Given the description of an element on the screen output the (x, y) to click on. 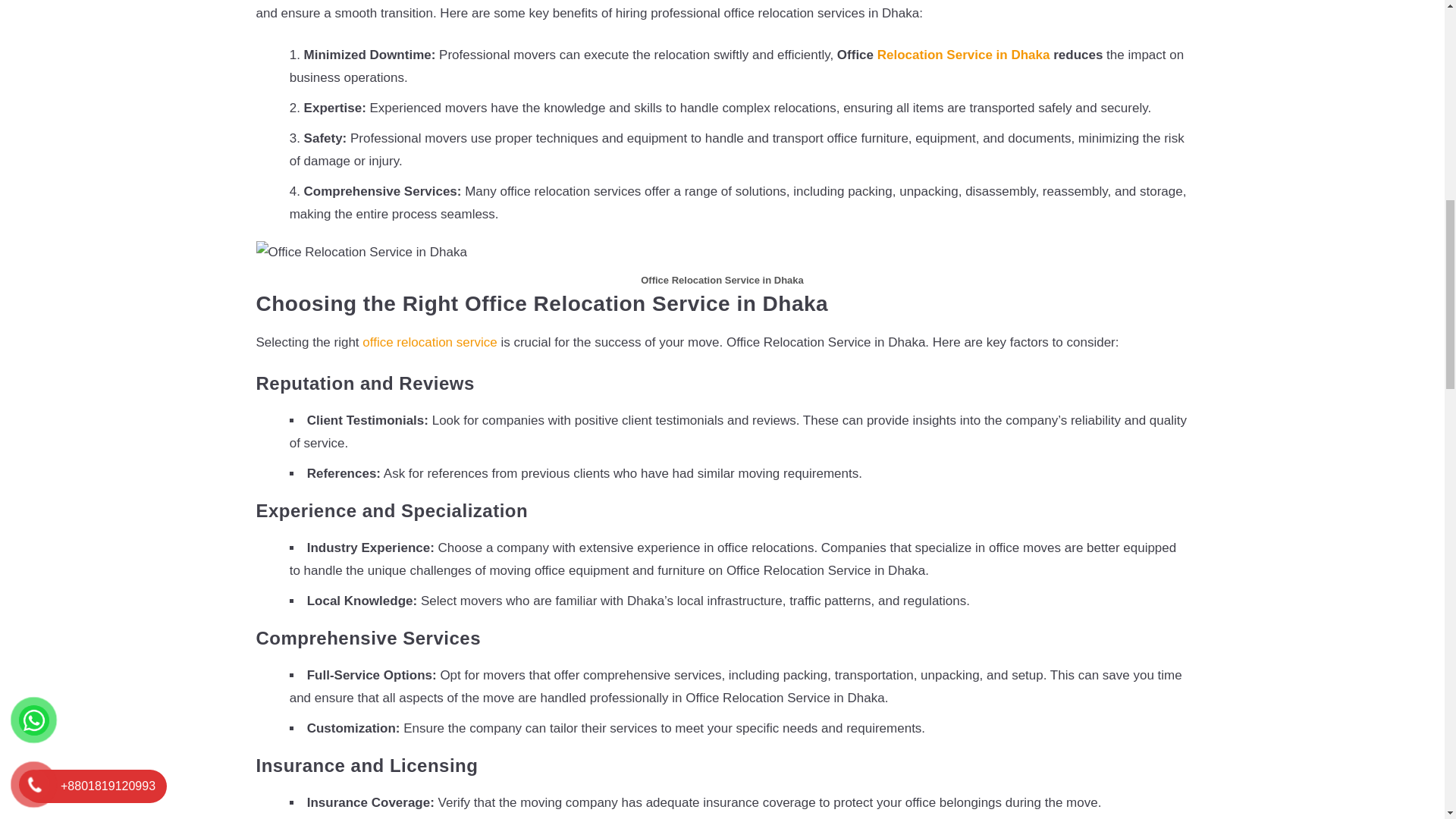
office relocation service (429, 341)
Relocation Service in Dhaka (963, 54)
moving company (568, 802)
